Given the description of an element on the screen output the (x, y) to click on. 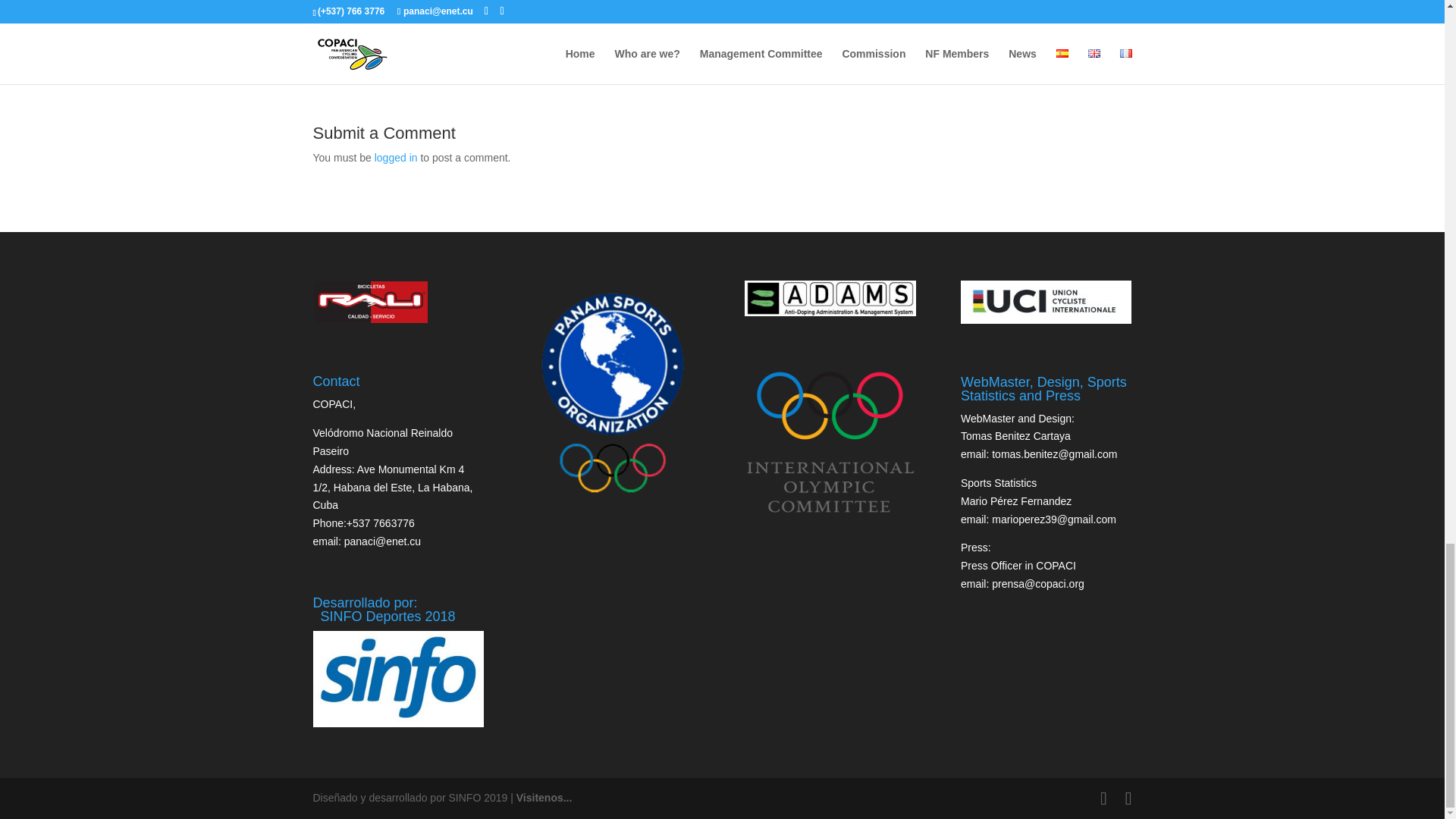
logged in (395, 157)
